Given the description of an element on the screen output the (x, y) to click on. 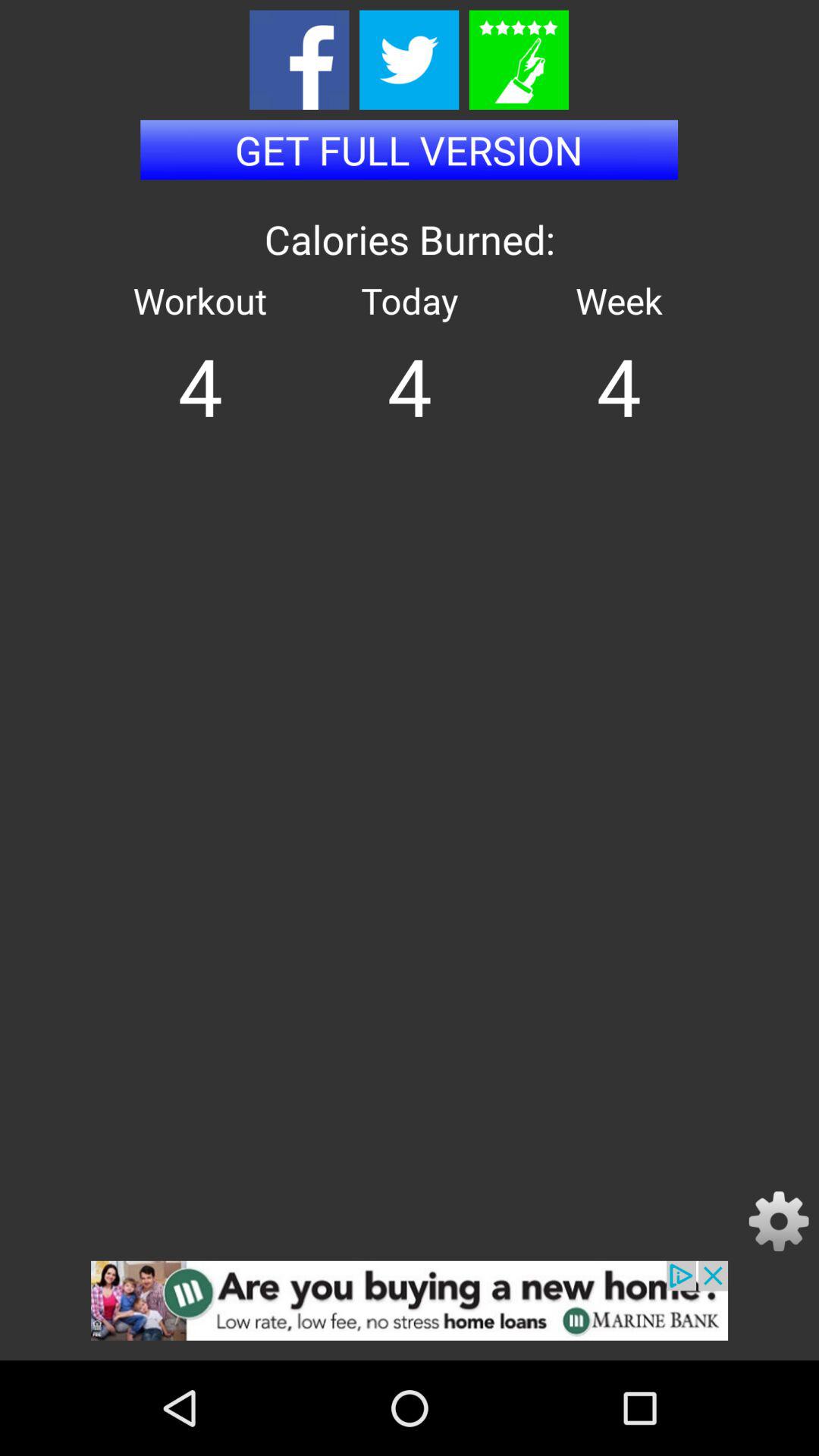
opens advertisement (409, 1310)
